Given the description of an element on the screen output the (x, y) to click on. 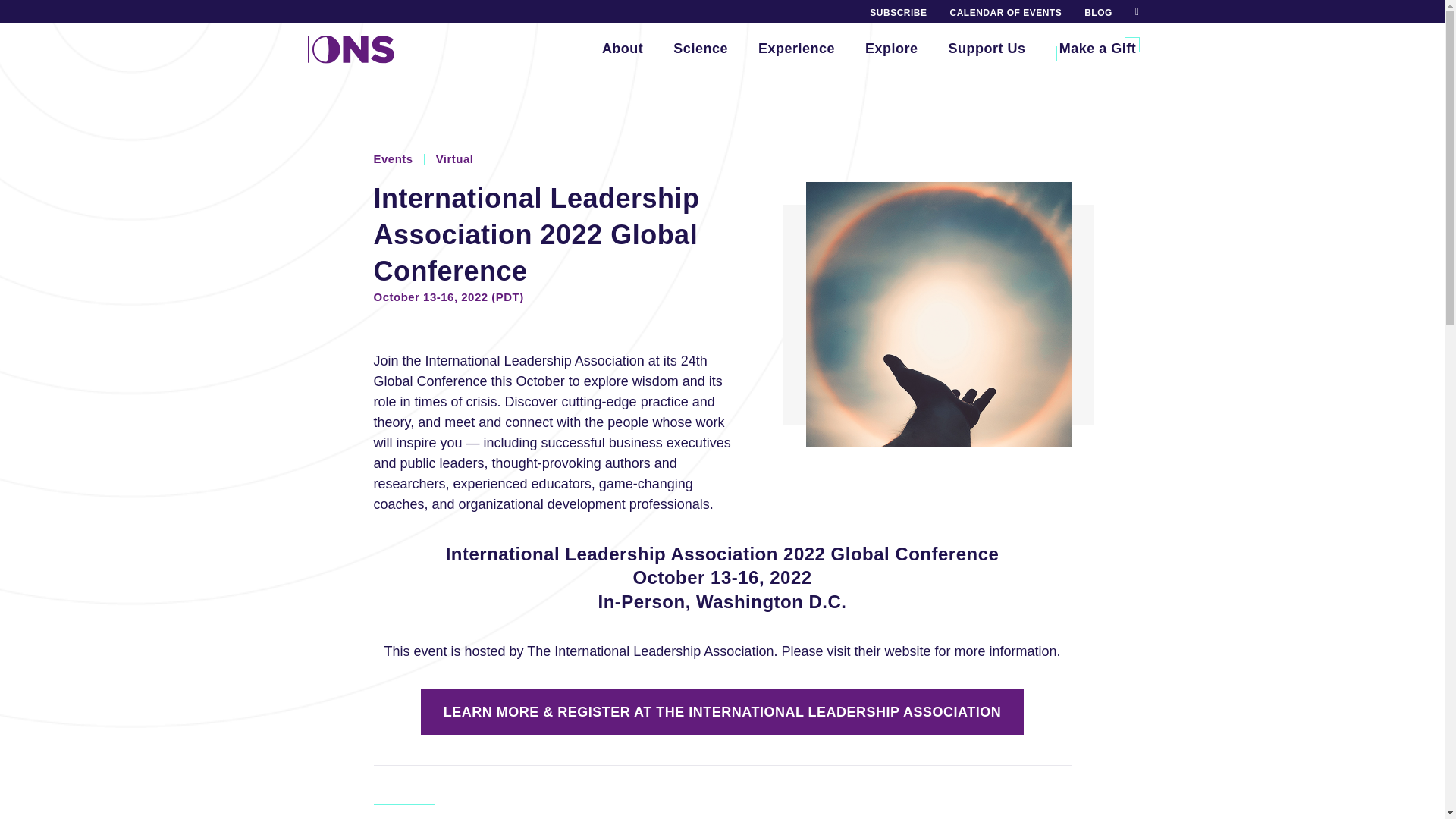
About (622, 48)
Explore (891, 48)
Science (700, 48)
Experience (796, 48)
Knowledge and Knowing (622, 48)
BLOG (1098, 12)
Exploring Our Interconnected Universe  (700, 48)
SUBSCRIBE (898, 12)
Find Your Spark (796, 48)
CALENDAR OF EVENTS (1006, 12)
